Given the description of an element on the screen output the (x, y) to click on. 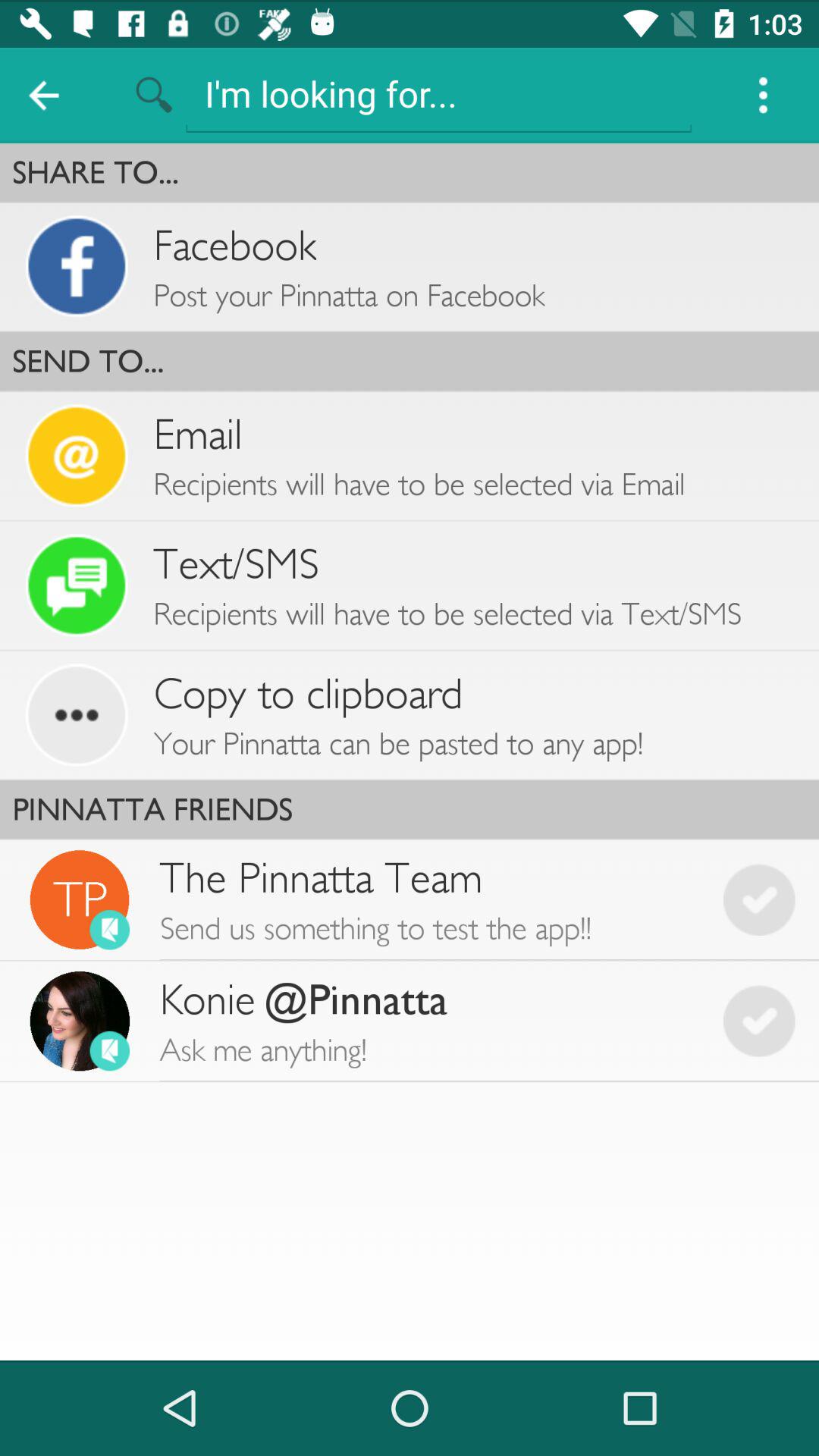
search bar (438, 93)
